Given the description of an element on the screen output the (x, y) to click on. 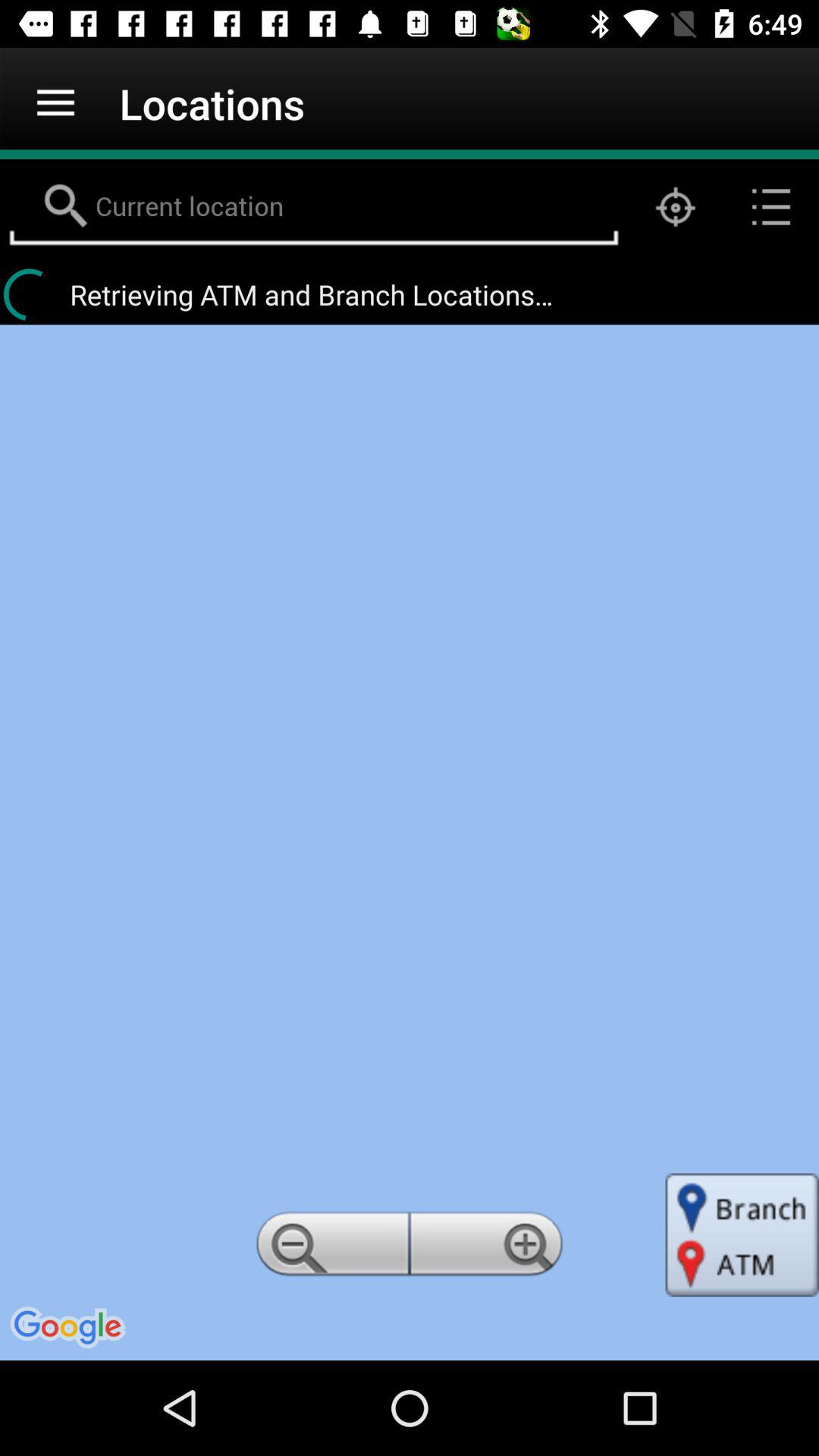
increase magnification (488, 1248)
